Given the description of an element on the screen output the (x, y) to click on. 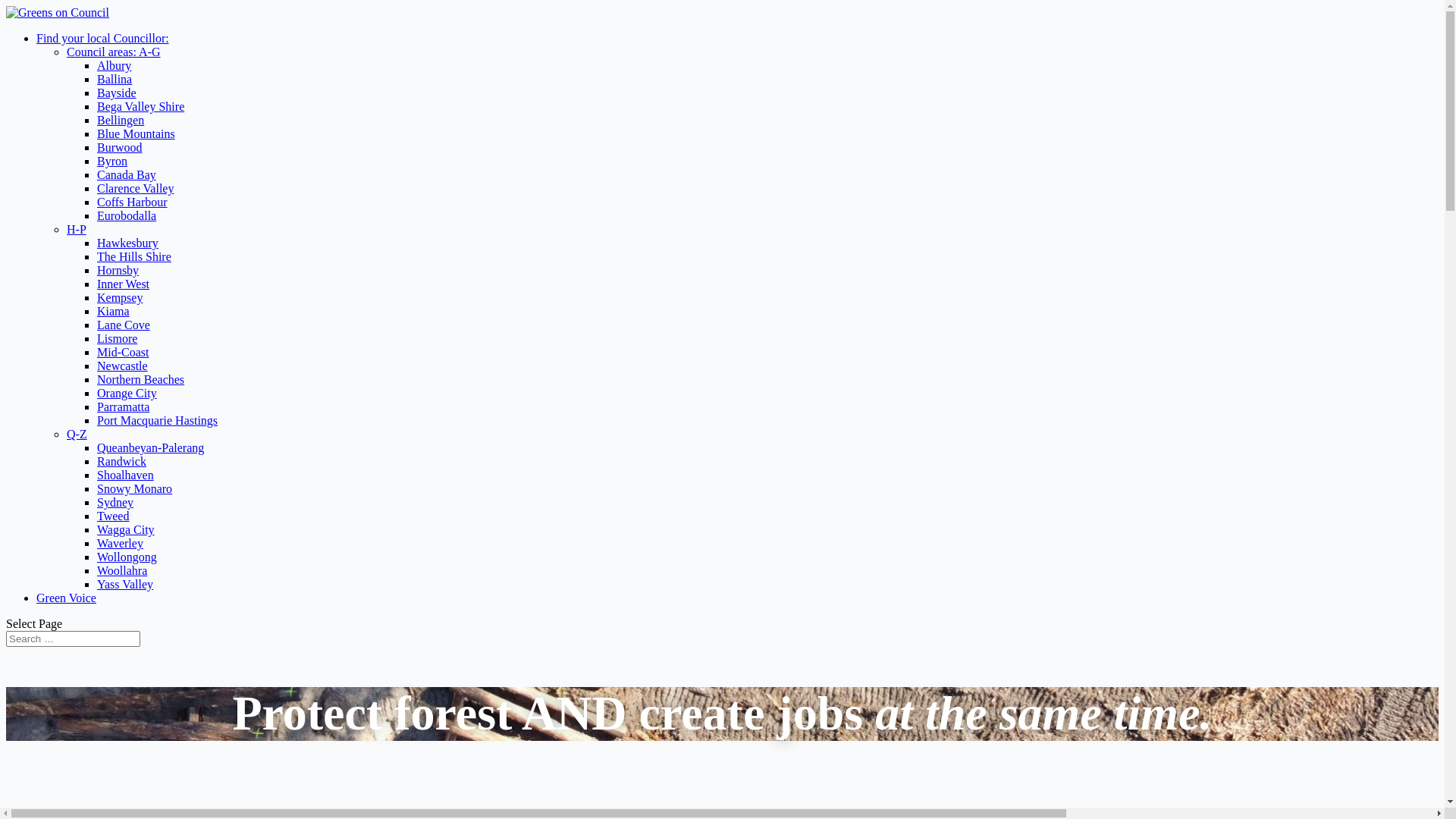
Queanbeyan-Palerang Element type: text (150, 447)
Woollahra Element type: text (122, 570)
Inner West Element type: text (123, 283)
Wagga City Element type: text (125, 529)
Bayside Element type: text (116, 92)
Northern Beaches Element type: text (140, 379)
Bega Valley Shire Element type: text (140, 106)
H-P Element type: text (76, 228)
Green Voice Element type: text (66, 597)
Lane Cove Element type: text (123, 324)
Port Macquarie Hastings Element type: text (157, 420)
Hawkesbury Element type: text (127, 242)
Orange City Element type: text (126, 392)
Q-Z Element type: text (76, 433)
The Hills Shire Element type: text (134, 256)
Yass Valley Element type: text (125, 583)
Find your local Councillor: Element type: text (102, 37)
Kiama Element type: text (113, 310)
Lismore Element type: text (117, 338)
Coffs Harbour Element type: text (132, 201)
Search for: Element type: hover (73, 638)
Waverley Element type: text (120, 542)
Wollongong Element type: text (126, 556)
Randwick Element type: text (121, 461)
Canada Bay Element type: text (126, 174)
Eurobodalla Element type: text (126, 215)
Tweed Element type: text (112, 515)
Blue Mountains Element type: text (136, 133)
Albury Element type: text (114, 65)
Byron Element type: text (112, 160)
Mid-Coast Element type: text (122, 351)
Newcastle Element type: text (122, 365)
Sydney Element type: text (115, 501)
Snowy Monaro Element type: text (134, 488)
Bellingen Element type: text (120, 119)
Clarence Valley Element type: text (135, 188)
Ballina Element type: text (114, 78)
Hornsby Element type: text (117, 269)
Burwood Element type: text (119, 147)
Parramatta Element type: text (123, 406)
Council areas: A-G Element type: text (113, 51)
Kempsey Element type: text (119, 297)
Shoalhaven Element type: text (125, 474)
